Given the description of an element on the screen output the (x, y) to click on. 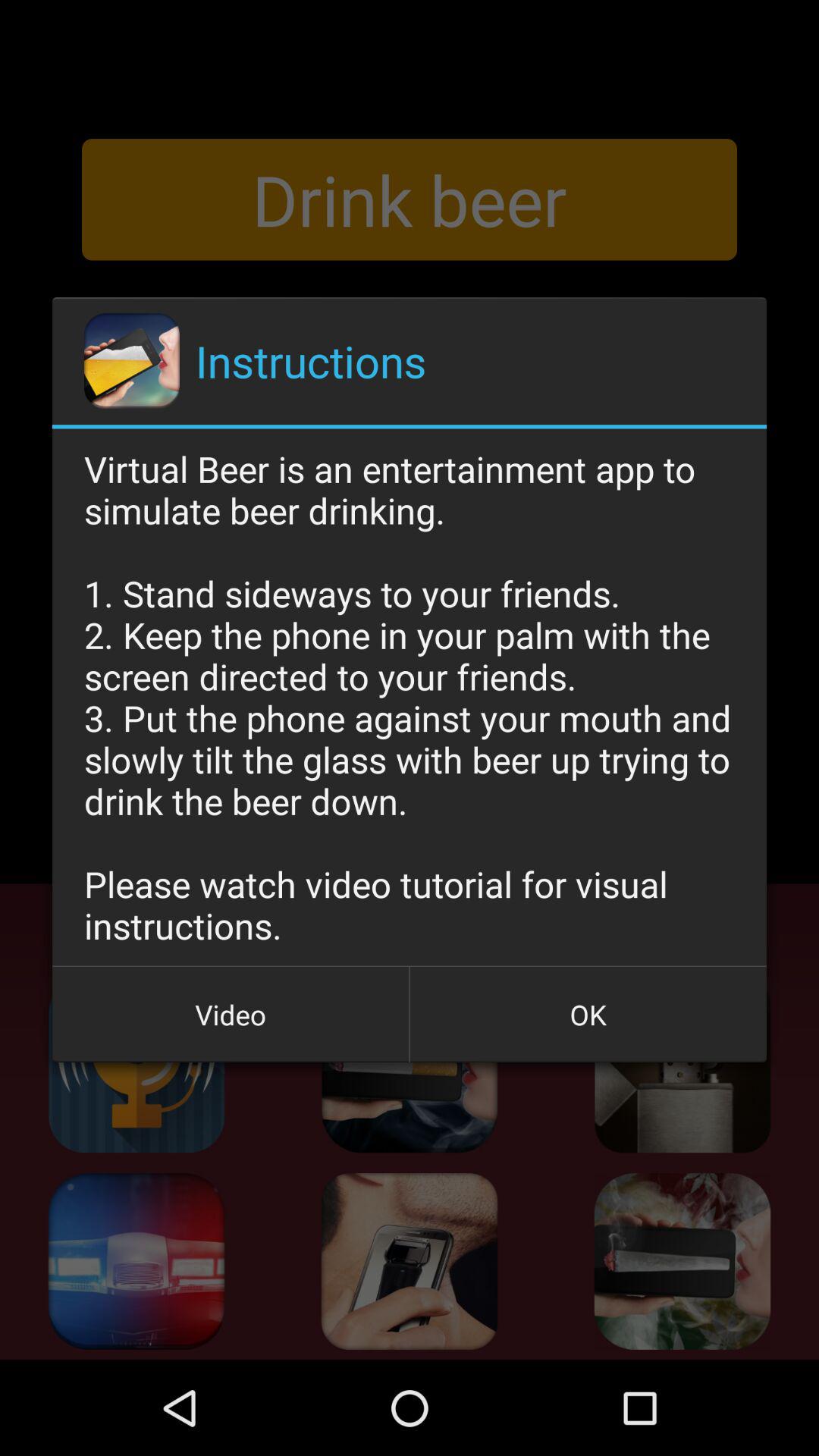
press button at the bottom right corner (588, 1014)
